Given the description of an element on the screen output the (x, y) to click on. 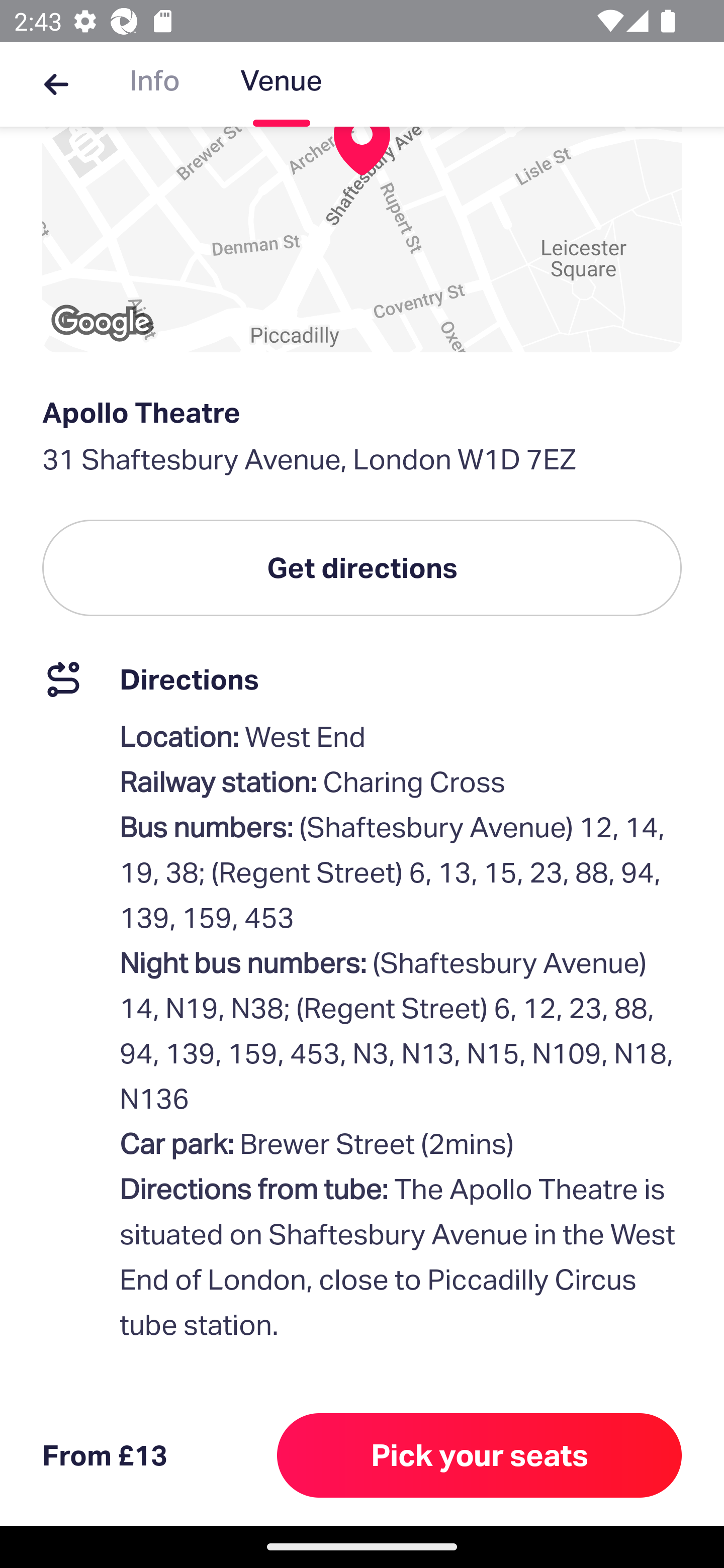
Info (154, 84)
Google Map Apollo Theatre.  (361, 239)
Get directions (361, 567)
Pick your seats (479, 1454)
